Given the description of an element on the screen output the (x, y) to click on. 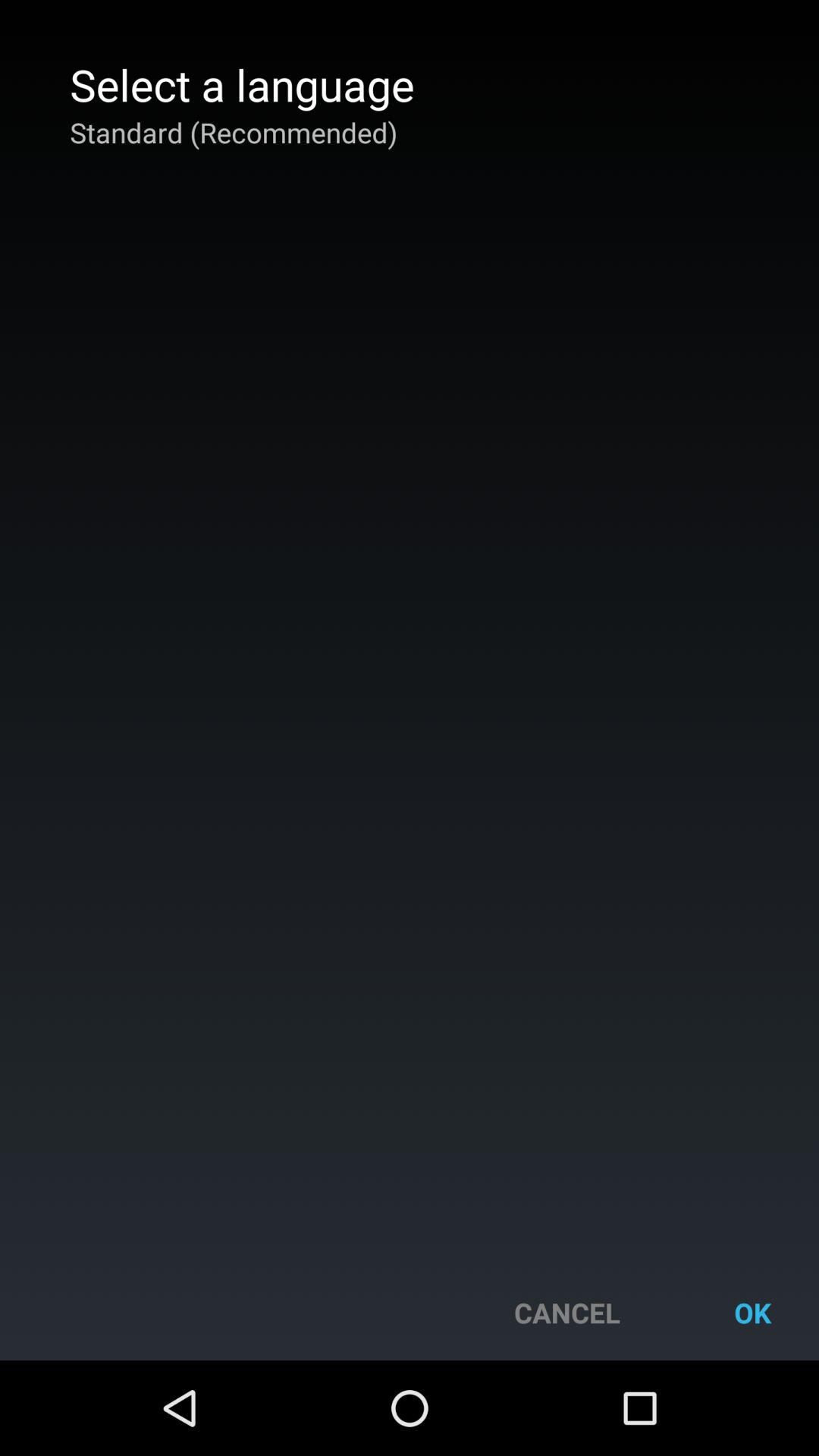
press the icon above the standard (recommended) app (241, 84)
